Given the description of an element on the screen output the (x, y) to click on. 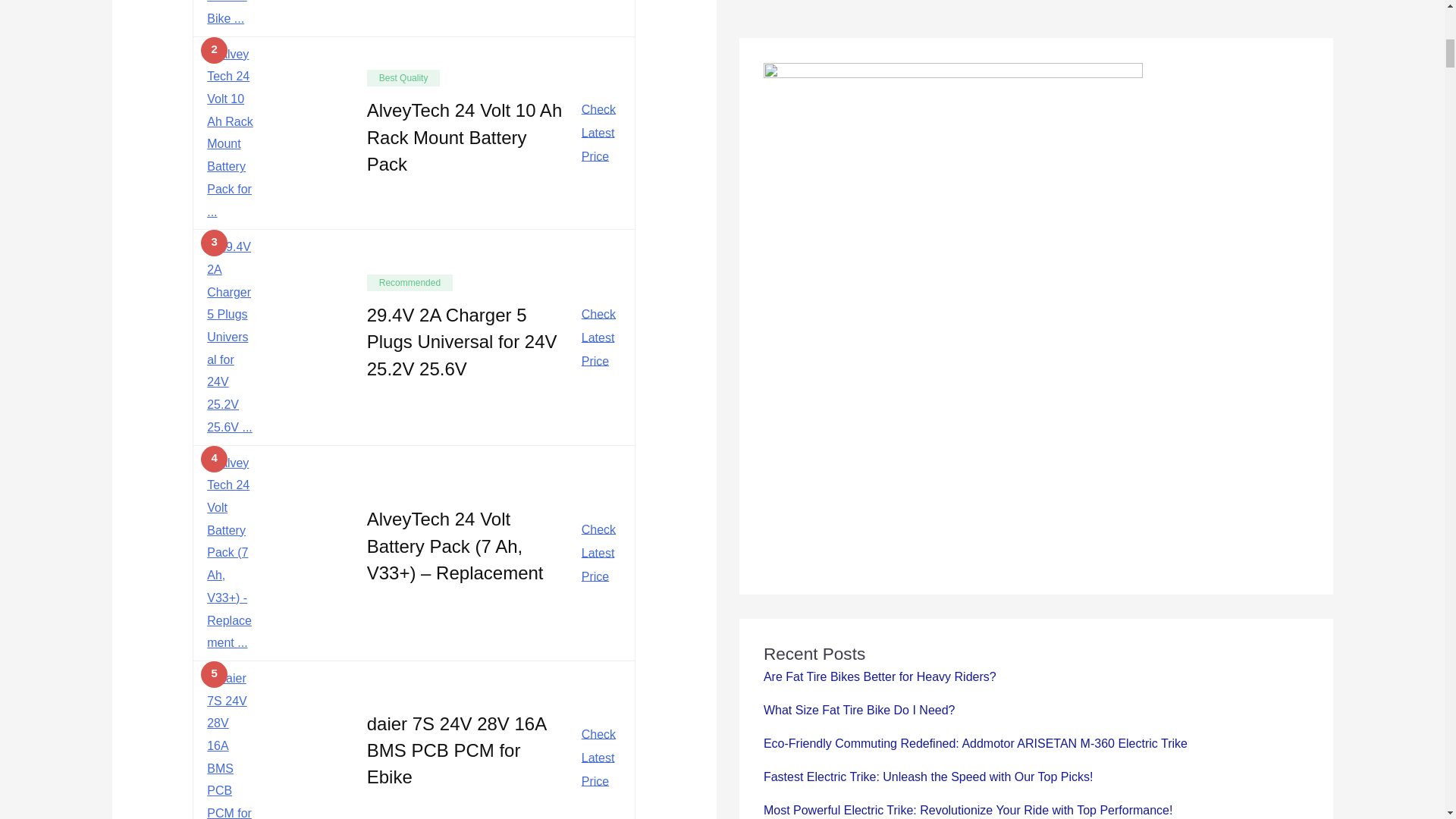
AlveyTech 24 Volt 10 Ah Rack Mount Battery Pack (464, 136)
daier 7S 24V 28V 16A BMS PCB PCM for Ebike (456, 749)
29.4V 2A Charger 5 Plugs Universal for 24V 25.2V 25.6V (461, 340)
